Given the description of an element on the screen output the (x, y) to click on. 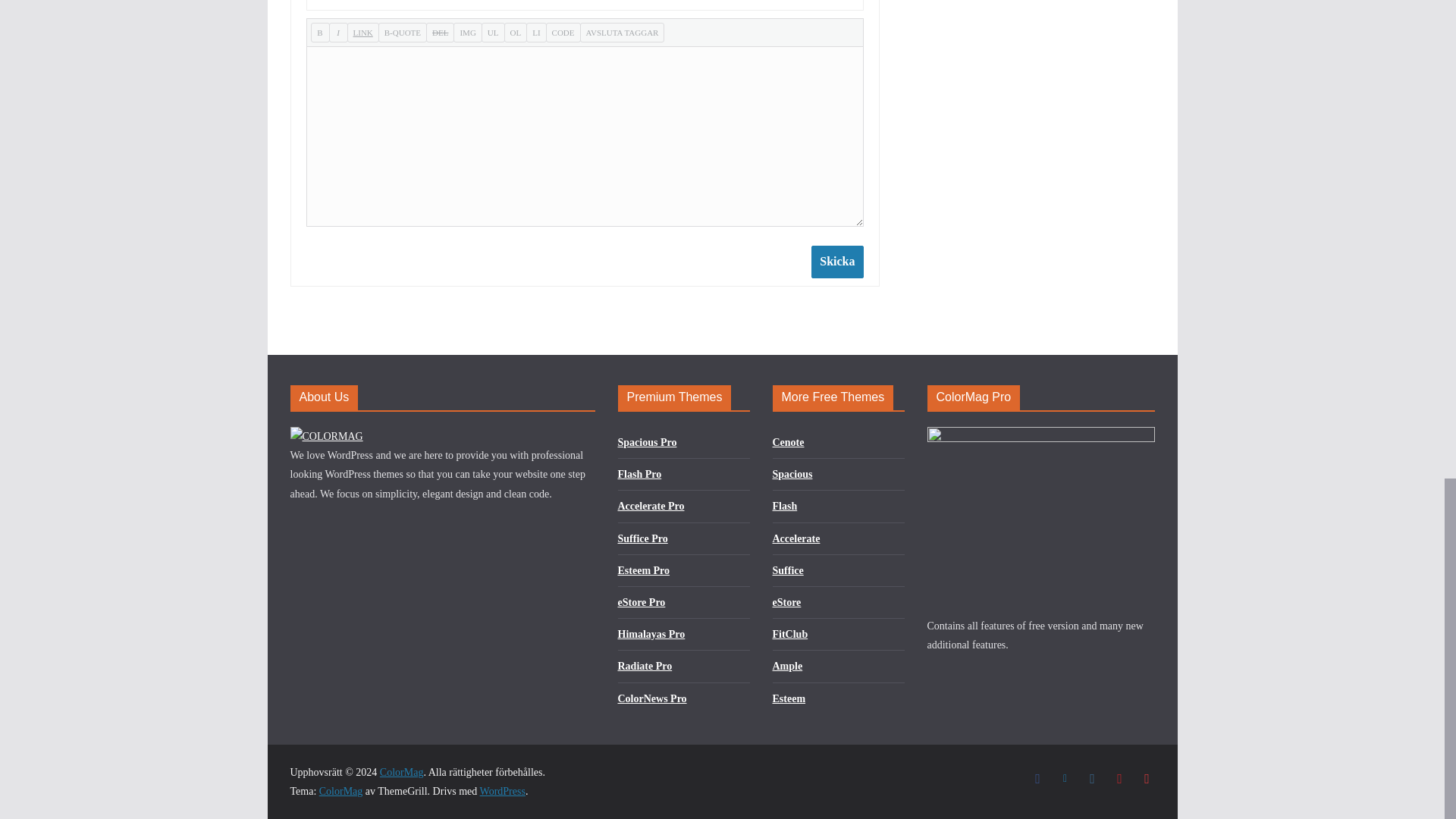
Flash Pro (639, 473)
li (535, 32)
Spacious Pro (647, 441)
i (338, 32)
Radiate Pro (644, 665)
del (440, 32)
b (320, 32)
Cenote (787, 441)
Esteem Pro (643, 570)
Flash Pro (639, 473)
img (466, 32)
Accelerate Pro (650, 505)
eStore Pro (641, 602)
link (362, 32)
ColorNews Pro (651, 698)
